Given the description of an element on the screen output the (x, y) to click on. 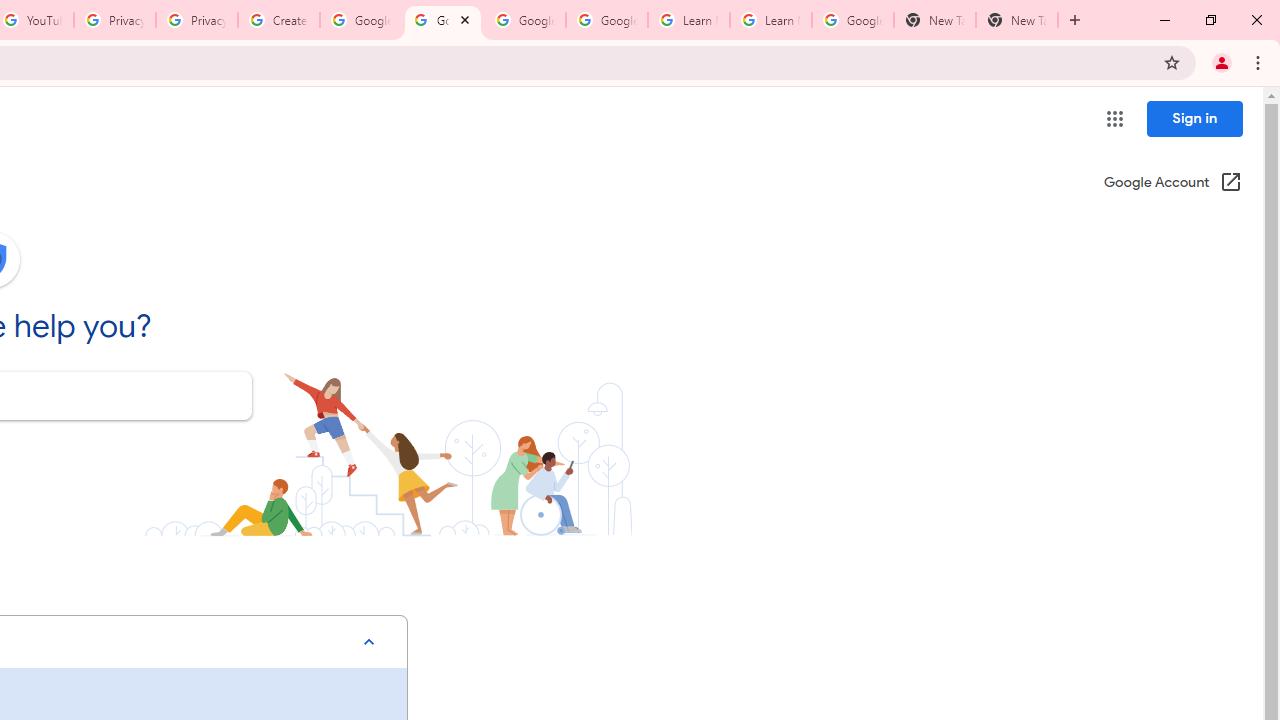
Google Account Help (606, 20)
Google Account Help (442, 20)
